Given the description of an element on the screen output the (x, y) to click on. 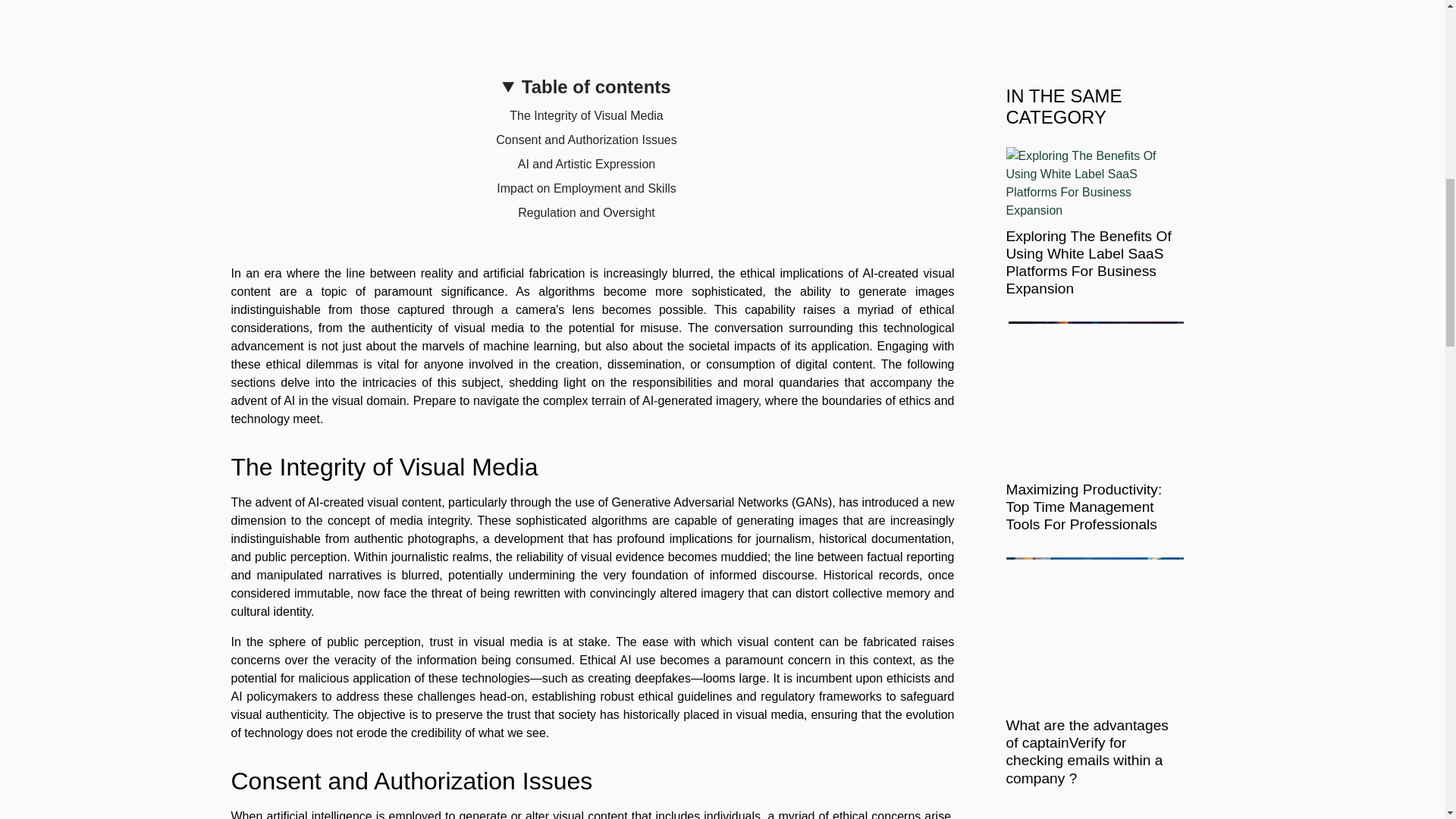
Regulation and Oversight (586, 212)
The Integrity of Visual Media (585, 115)
Consent and Authorization Issues (586, 139)
AI and Artistic Expression (586, 164)
Impact on Employment and Skills (586, 187)
